Given the description of an element on the screen output the (x, y) to click on. 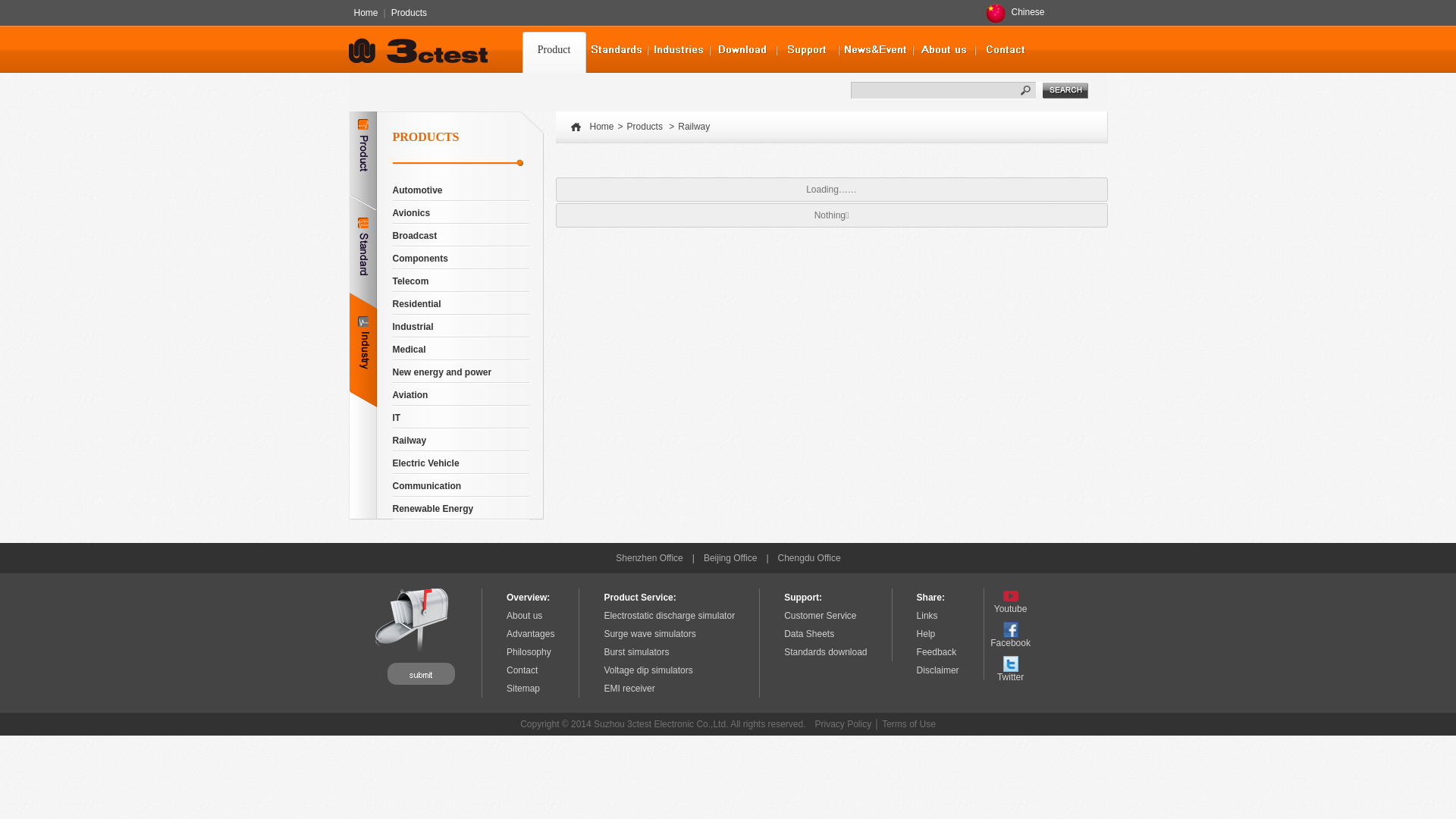
Chengdu Office Element type: text (809, 557)
Contact Element type: text (521, 670)
IT Element type: text (396, 417)
Voltage dip simulators Element type: text (647, 670)
Home Element type: text (601, 126)
Home Element type: text (365, 12)
Disclaimer Element type: text (937, 670)
Product Element type: text (553, 48)
Burst simulators Element type: text (635, 651)
Electric Vehicle Element type: text (425, 463)
Electrostatic discharge simulator Element type: text (668, 615)
Privacy Policy Element type: text (843, 723)
Products Element type: text (644, 126)
Links Element type: text (927, 615)
0 Element type: text (615, 48)
Youtube Element type: text (1010, 601)
Avionics Element type: text (411, 212)
Residential Element type: text (416, 303)
Renewable Energy Element type: text (432, 508)
Medical Element type: text (409, 349)
Railway Element type: text (409, 440)
Help Element type: text (925, 633)
Communication Element type: text (426, 485)
Railway Element type: text (693, 126)
Philosophy Element type: text (528, 651)
Twitter Element type: text (1010, 668)
Telecom Element type: text (410, 281)
Automotive Element type: text (417, 190)
Facebook Element type: text (1010, 634)
Beijing Office Element type: text (729, 557)
Standards download Element type: text (825, 651)
Shenzhen Office Element type: text (649, 557)
Sitemap Element type: text (522, 688)
Aviation Element type: text (410, 394)
0 Element type: text (677, 48)
Terms of Use Element type: text (908, 723)
Feedback Element type: text (936, 651)
New energy and power Element type: text (442, 372)
Advantages Element type: text (530, 633)
Industrial Element type: text (412, 326)
Data Sheets Element type: text (809, 633)
Surge wave simulators Element type: text (649, 633)
Broadcast Element type: text (414, 235)
EMI receiver Element type: text (628, 688)
Products Element type: text (408, 12)
Components Element type: text (420, 258)
Customer Service Element type: text (820, 615)
About us Element type: text (524, 615)
